Given the description of an element on the screen output the (x, y) to click on. 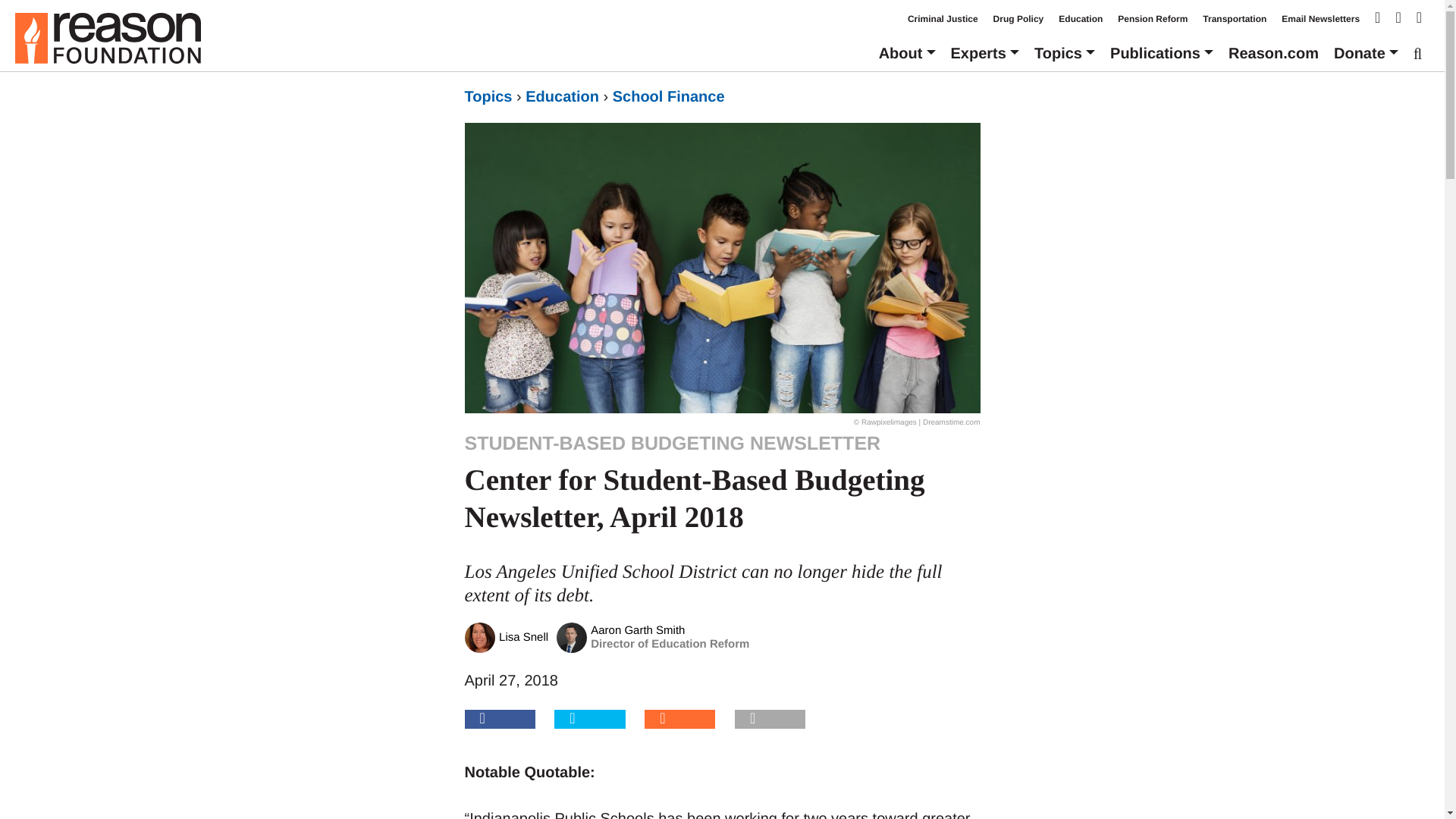
About (906, 53)
Pension Reform (1153, 18)
Reason Magazine (1273, 53)
Email Newsletters (1320, 18)
Education (1080, 18)
Experts (984, 53)
Transportation (1234, 18)
Drug Policy (1017, 18)
Topics (1064, 53)
Criminal Justice (942, 18)
